Given the description of an element on the screen output the (x, y) to click on. 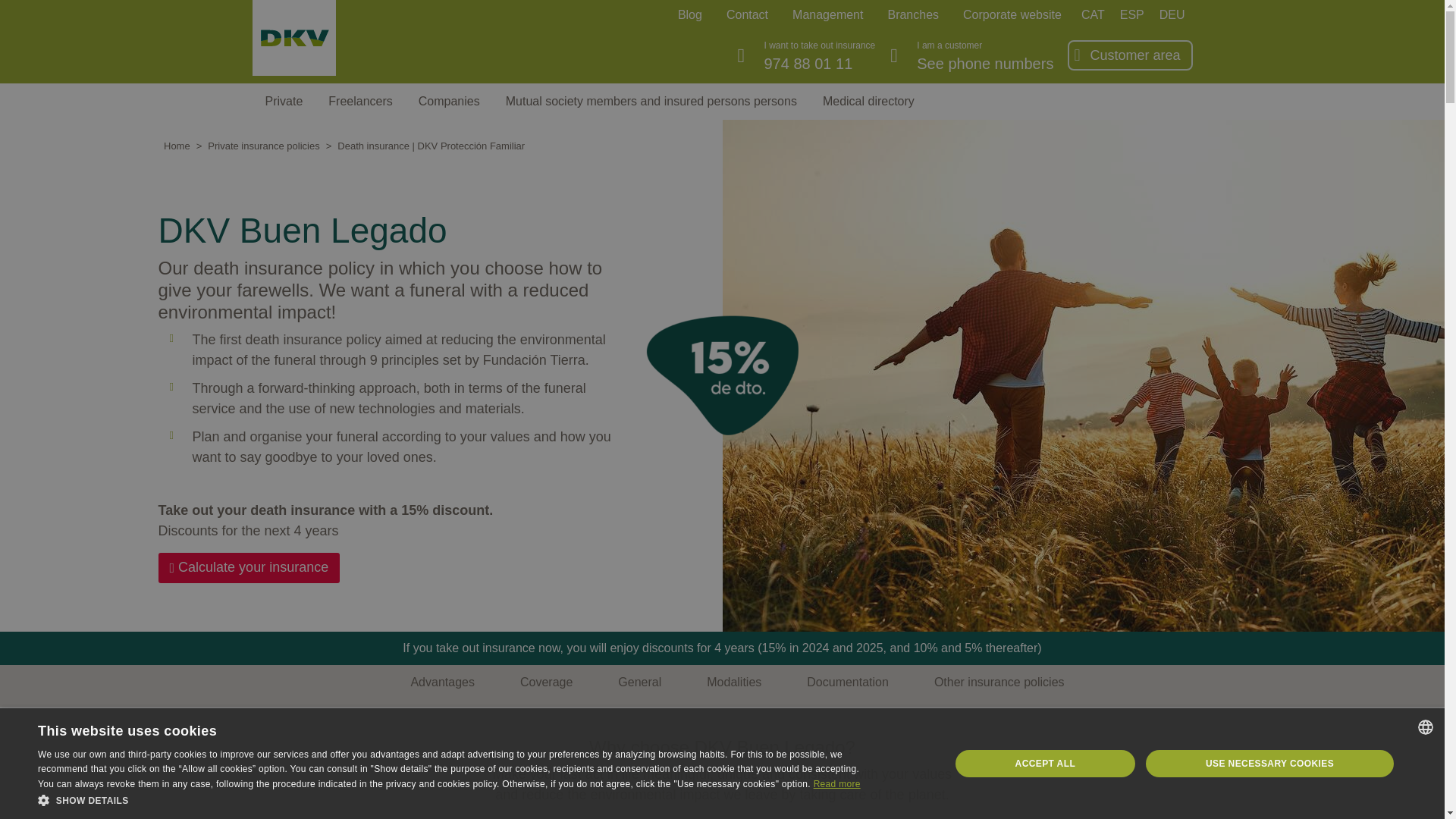
Mutual society members and insured persons persons (651, 101)
Listen (1143, 148)
DKV network-affiliated doctors and healthcare centres (868, 101)
Customer area (1134, 54)
Management (827, 12)
Corporate website (1012, 12)
Advantages (442, 682)
Home (295, 41)
Individual insurance (283, 101)
Contact (747, 12)
Other insurance policies (999, 682)
Medical assistance for civil servants (651, 101)
Calculate your insurance (248, 567)
Medical directory (868, 101)
Insurance for self-employed workers (359, 101)
